Given the description of an element on the screen output the (x, y) to click on. 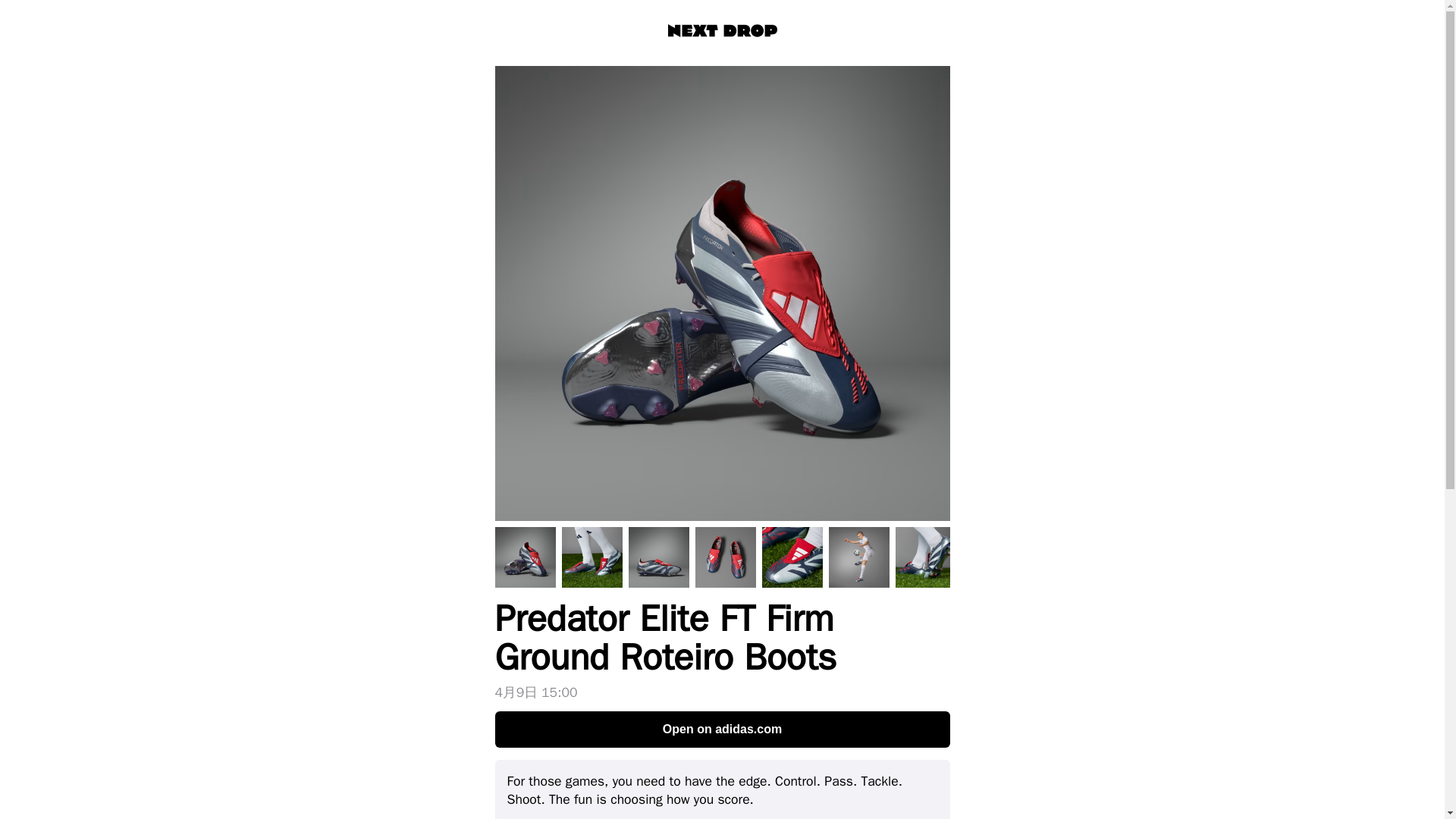
Open on adidas.com (722, 729)
